Given the description of an element on the screen output the (x, y) to click on. 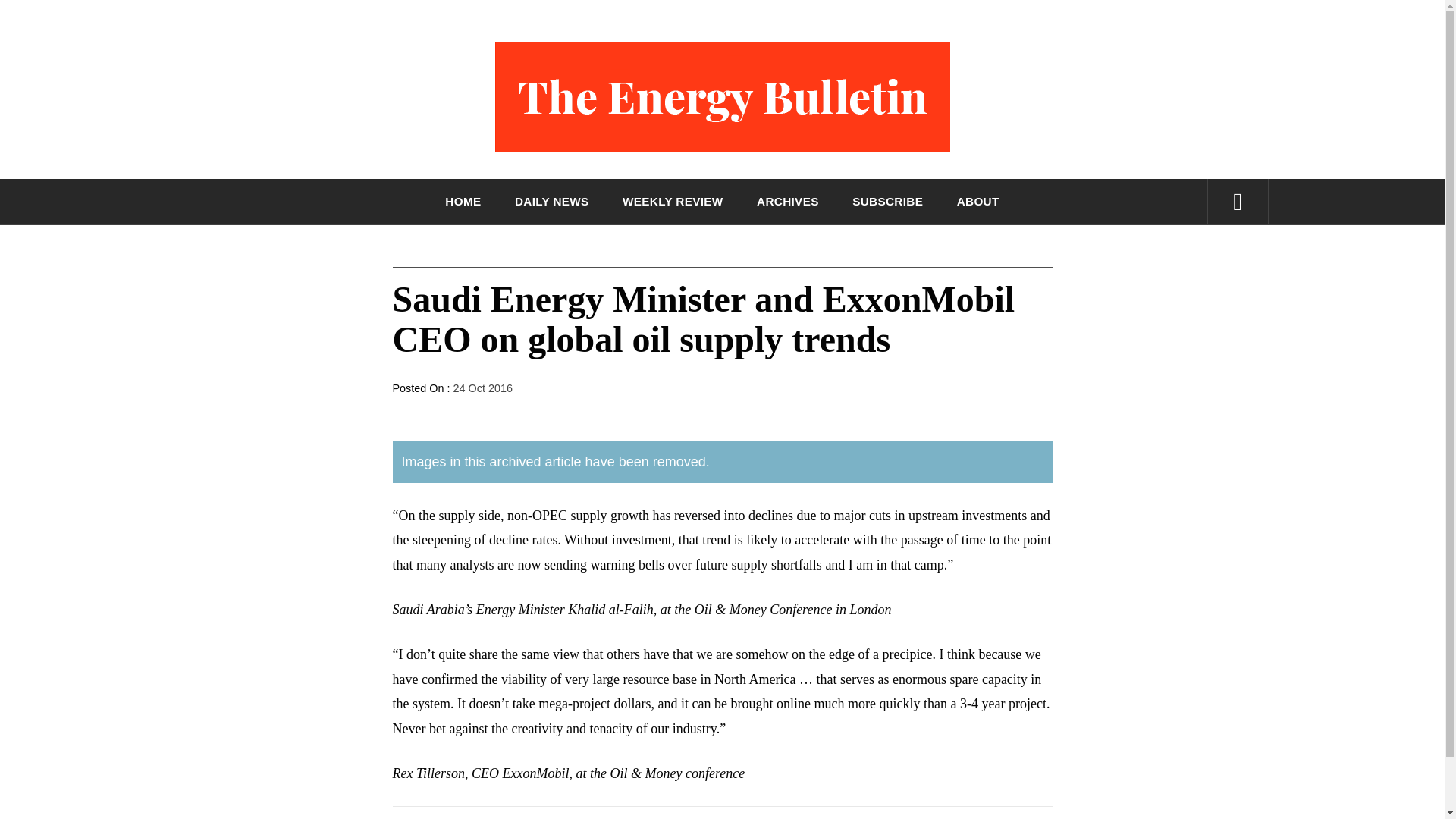
WEEKLY REVIEW (672, 201)
Search (797, 37)
24 Oct 2016 (482, 387)
SUBSCRIBE (887, 201)
DAILY NEWS (551, 201)
ABOUT (978, 201)
HOME (462, 201)
ARCHIVES (788, 201)
THE ENERGY BULLETIN (721, 197)
